Given the description of an element on the screen output the (x, y) to click on. 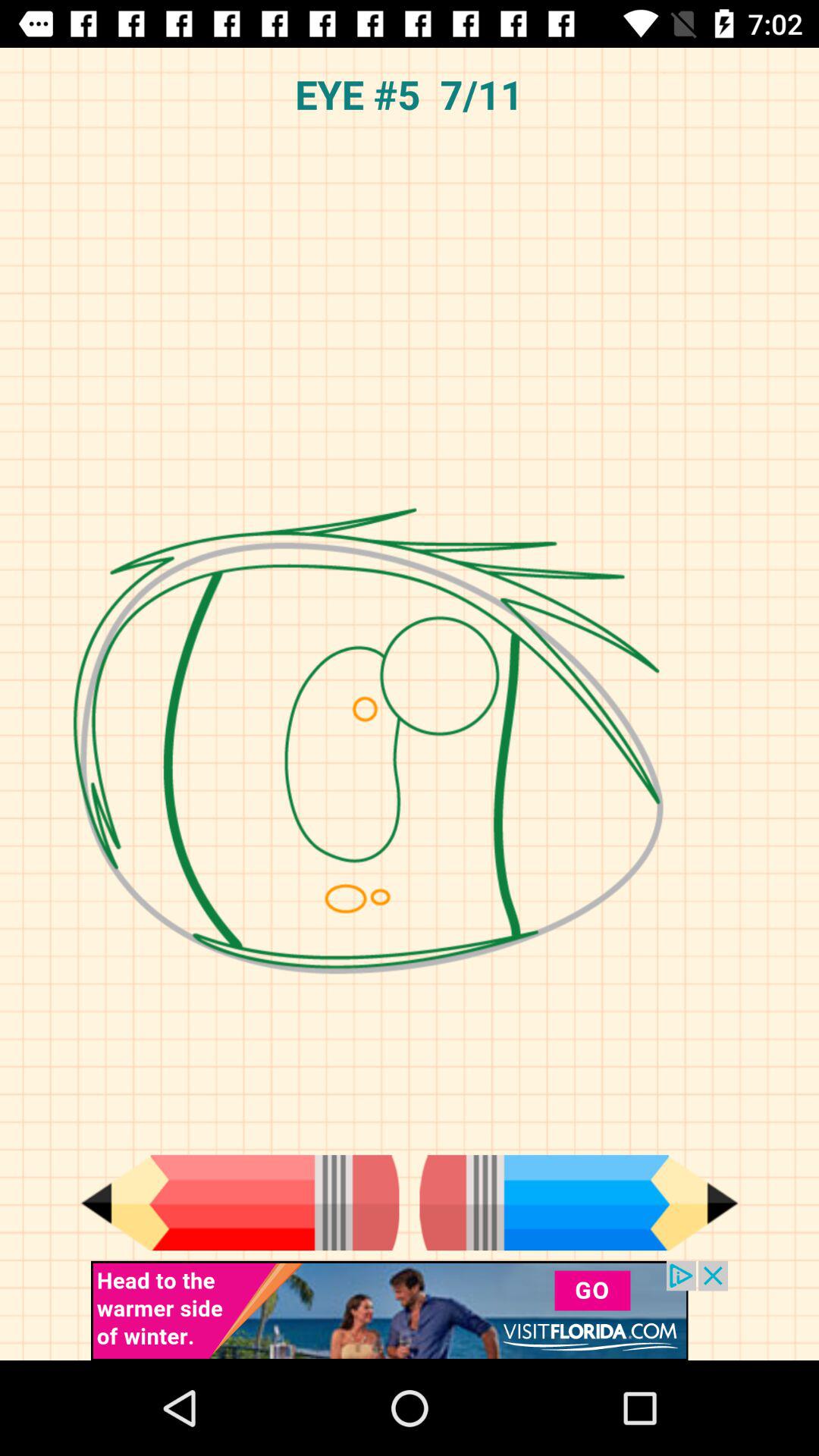
go to next (578, 1202)
